Given the description of an element on the screen output the (x, y) to click on. 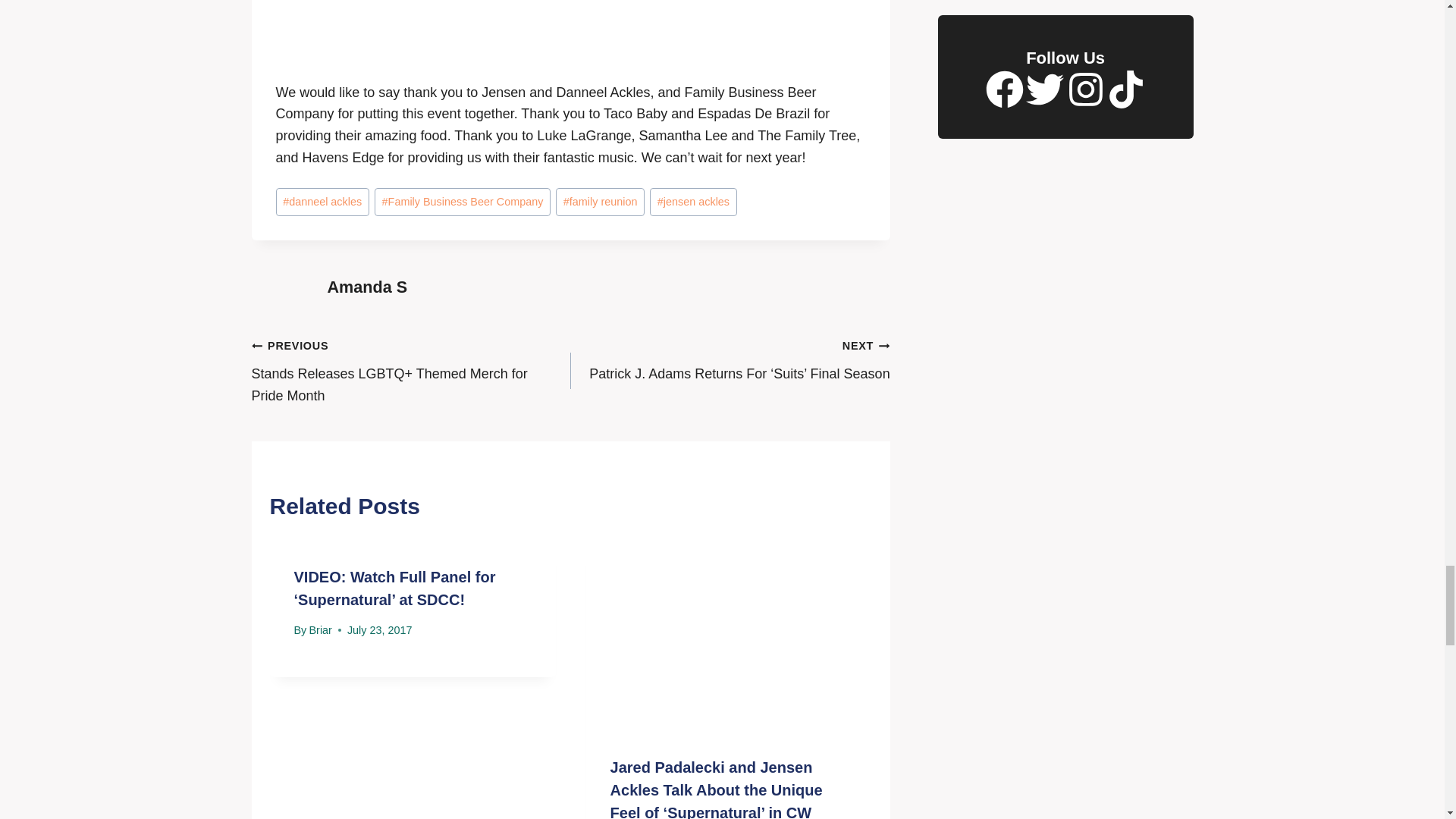
Posts by Amanda S (367, 286)
family reunion (600, 202)
danneel ackles (322, 202)
Family Business Beer Company (462, 202)
jensen ackles (692, 202)
